Given the description of an element on the screen output the (x, y) to click on. 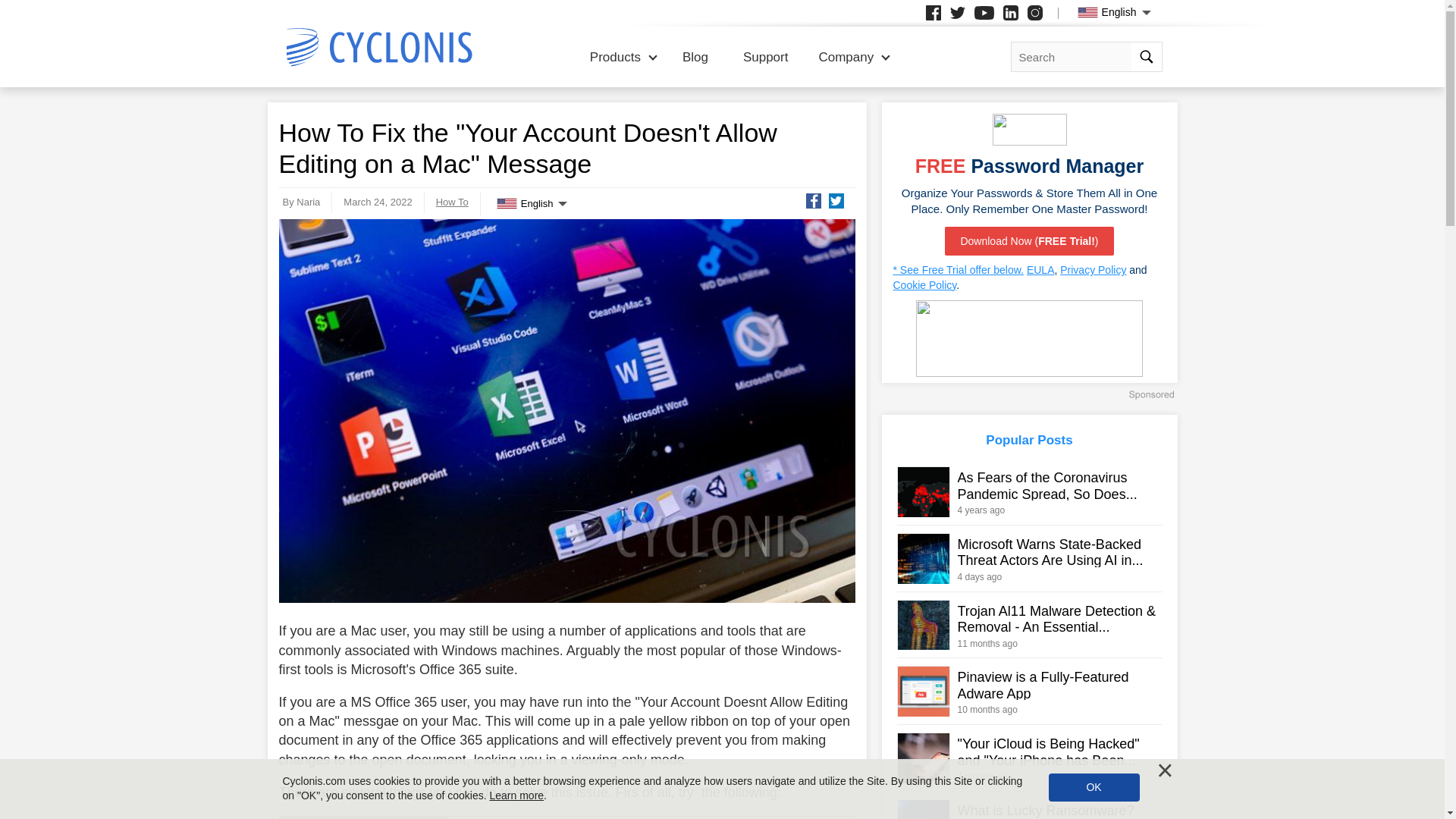
Tweet (835, 200)
EULA (1040, 269)
Privacy Policy (1092, 269)
How To (451, 202)
OK (1093, 787)
Share on Facebook (813, 200)
English (532, 203)
Cookie Policy (924, 285)
